Given the description of an element on the screen output the (x, y) to click on. 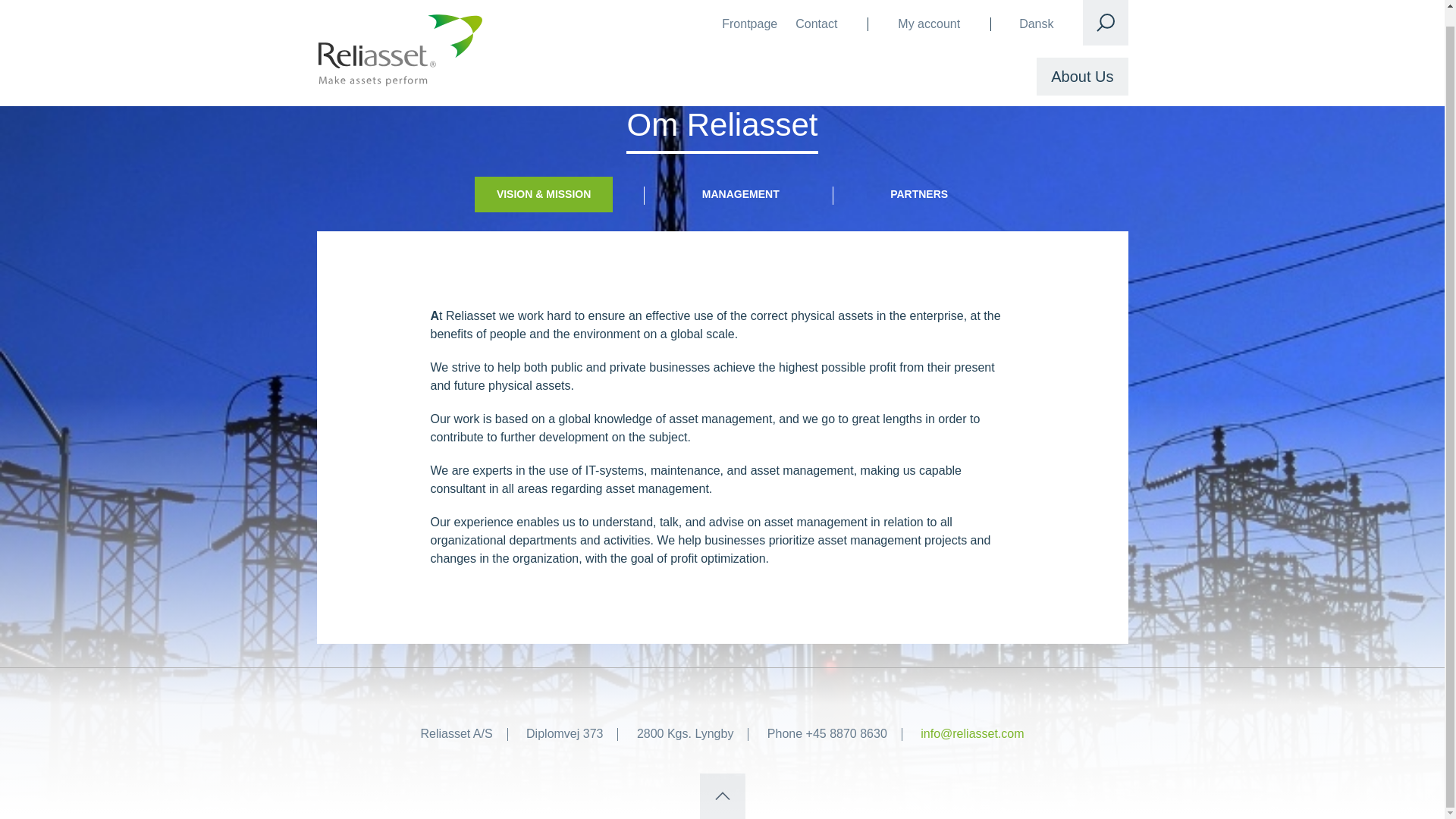
Frontpage (749, 10)
Contact (815, 10)
Dansk (1036, 10)
MANAGEMENT (740, 194)
My account (928, 10)
PARTNERS (918, 194)
About Us (1081, 60)
